Given the description of an element on the screen output the (x, y) to click on. 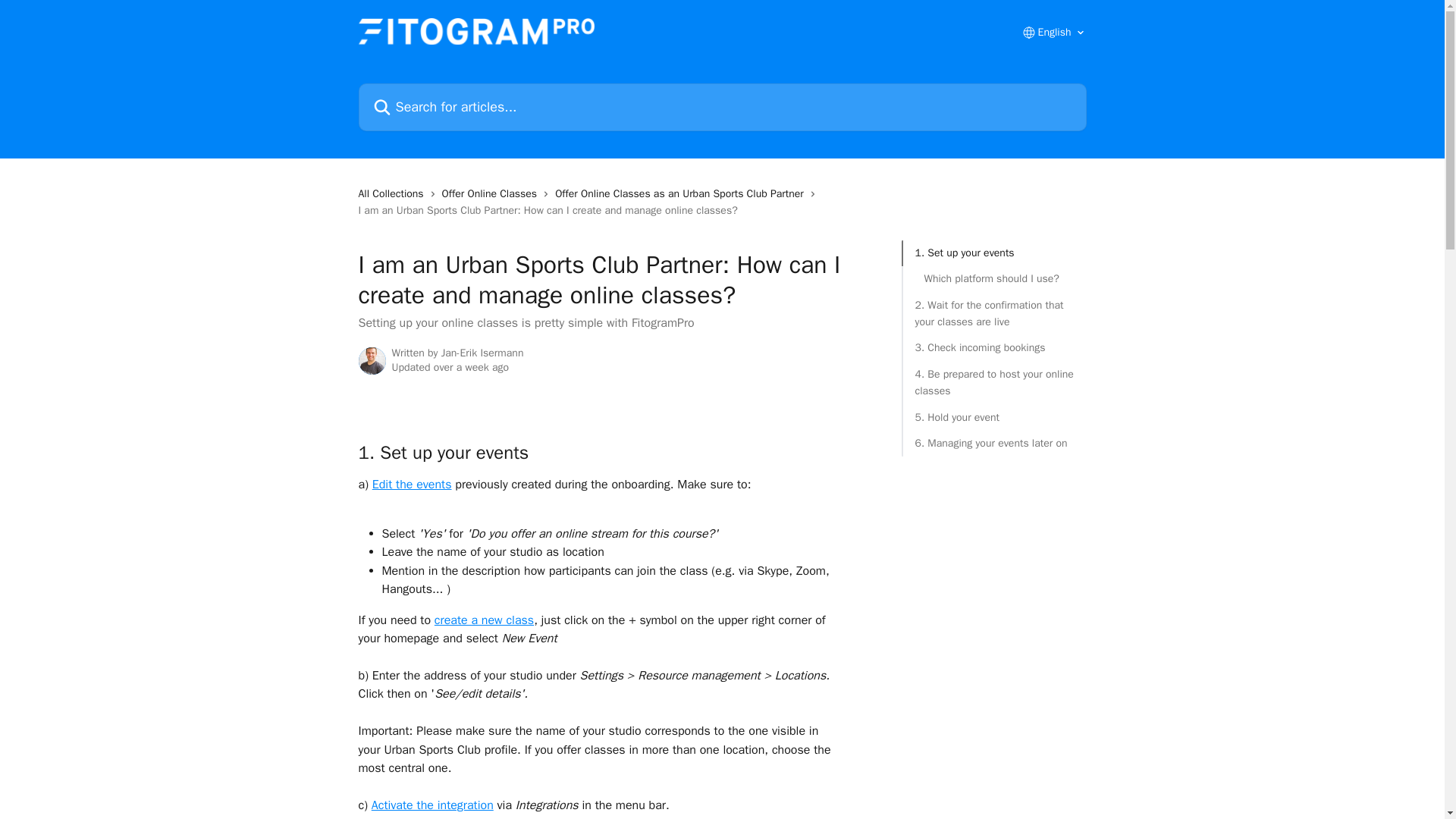
Activate the integration (432, 805)
6. Managing your events later on (994, 443)
2. Wait for the confirmation that your classes are live (994, 314)
3. Check incoming bookings (994, 347)
1. Set up your events (994, 252)
Edit the events (411, 484)
create a new class (483, 620)
Offer Online Classes (492, 193)
5. Hold your event  (994, 417)
All Collections (393, 193)
Offer Online Classes as an Urban Sports Club Partner (681, 193)
4. Be prepared to host your online classes (994, 383)
Which platform should I use? (993, 279)
